Given the description of an element on the screen output the (x, y) to click on. 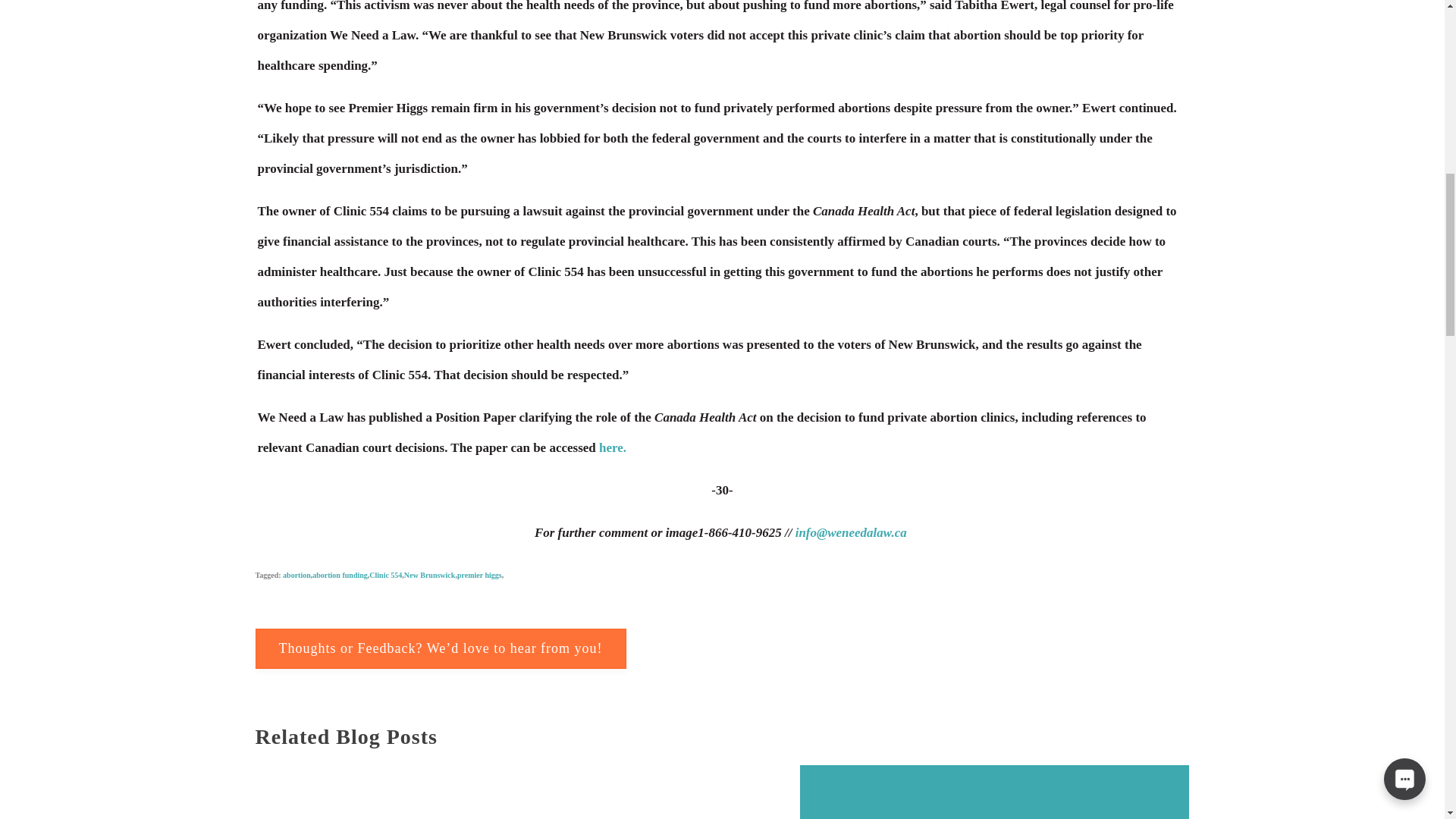
Clinic 554 (385, 547)
abortion (296, 530)
premier higgs (479, 556)
New Brunswick (429, 551)
abortion funding (340, 542)
here. (612, 386)
